Given the description of an element on the screen output the (x, y) to click on. 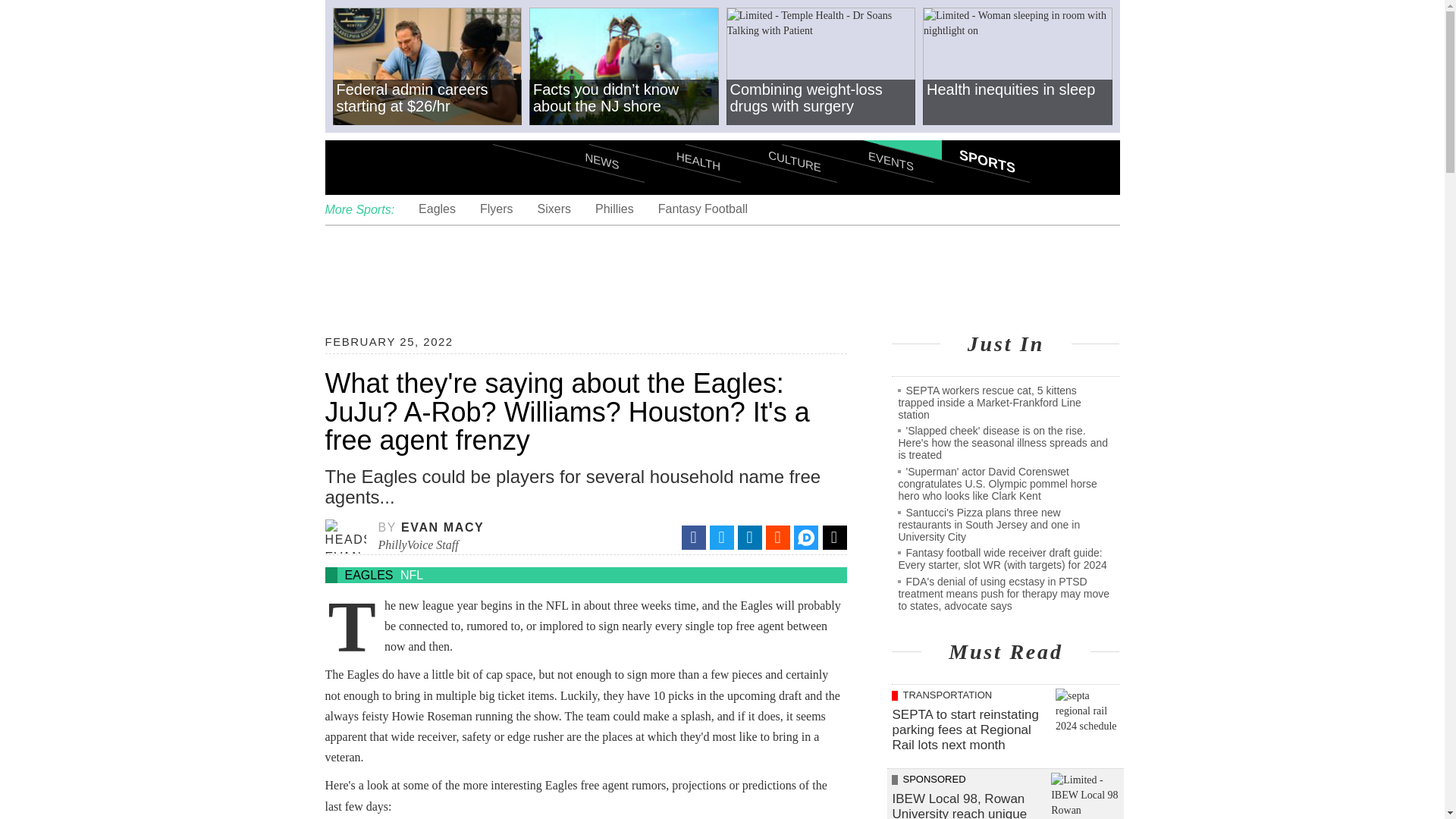
EVENTS (856, 132)
NEWS (569, 132)
CULTURE (761, 132)
Reddit (777, 537)
SPORTS (953, 132)
Facebook (693, 537)
HEALTH (663, 132)
Twitter (721, 537)
Health inequities in sleep (1017, 67)
Combining weight-loss drugs with surgery (820, 67)
